Given the description of an element on the screen output the (x, y) to click on. 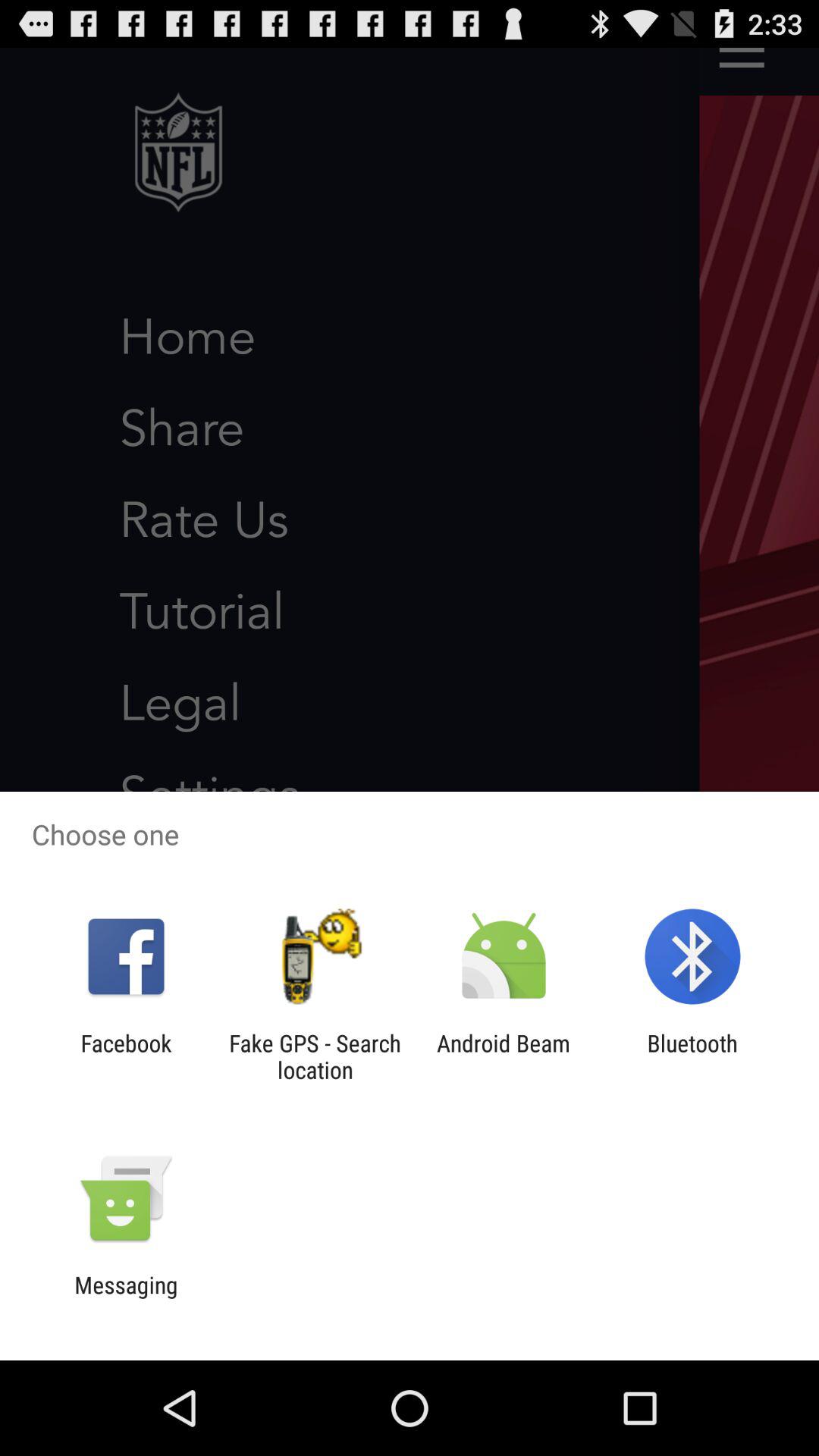
launch item next to the fake gps search app (503, 1056)
